Given the description of an element on the screen output the (x, y) to click on. 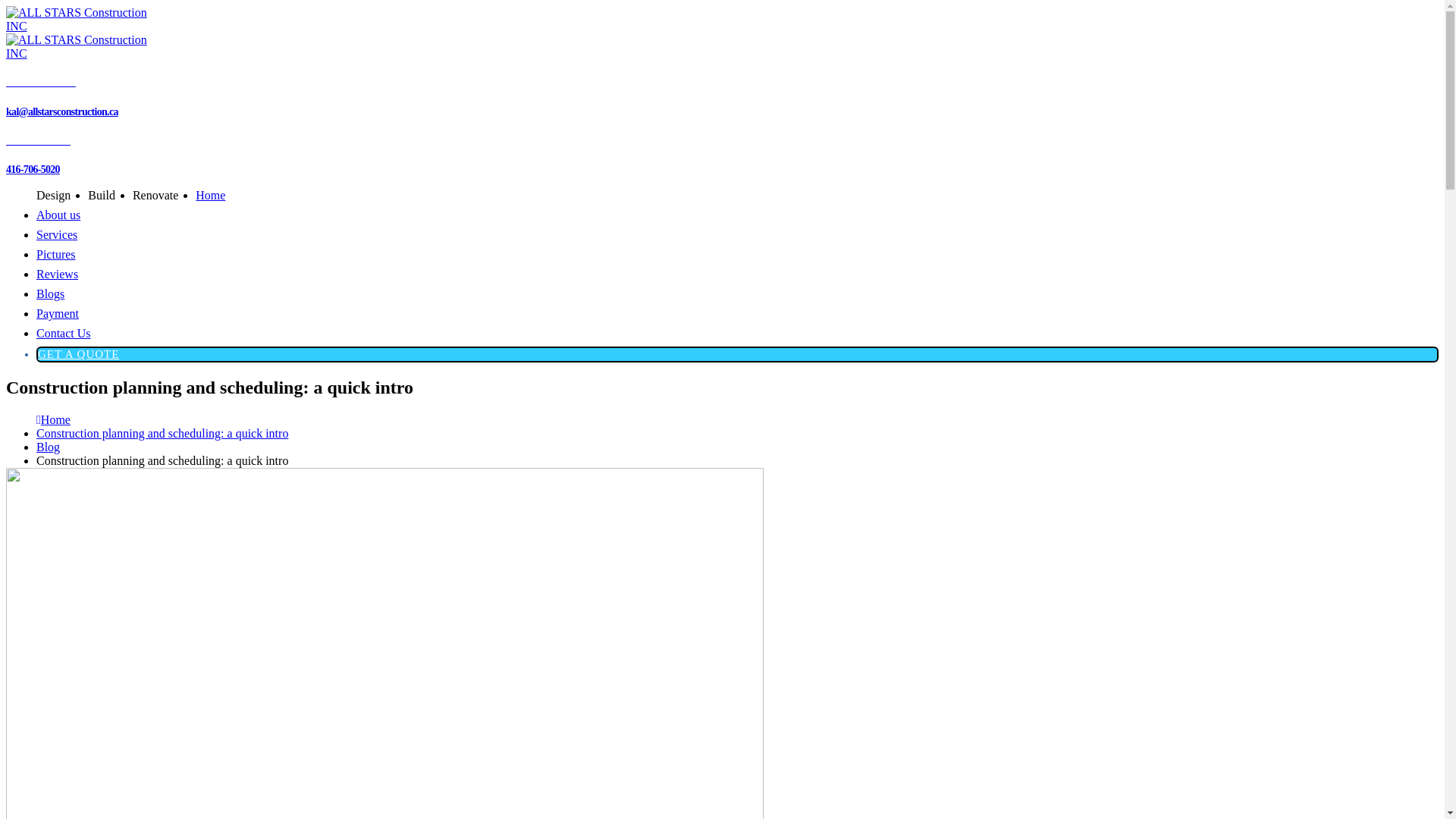
Home Element type: text (210, 194)
GET A QUOTE Element type: text (78, 354)
Reviews Element type: text (57, 273)
Home Element type: text (55, 419)
Contact Us Element type: text (63, 332)
ALL STARS Construction INC -  Element type: hover (78, 39)
About us Element type: text (58, 214)
Blog Element type: text (47, 446)
EMAIL US NOW
kal@allstarsconstruction.ca Element type: text (722, 97)
CALL US NOW
416-706-5020 Element type: text (722, 155)
Construction planning and scheduling: a quick intro Element type: text (162, 432)
Services Element type: text (56, 234)
Blogs Element type: text (50, 293)
Pictures Element type: text (55, 253)
Payment Element type: text (57, 313)
